Given the description of an element on the screen output the (x, y) to click on. 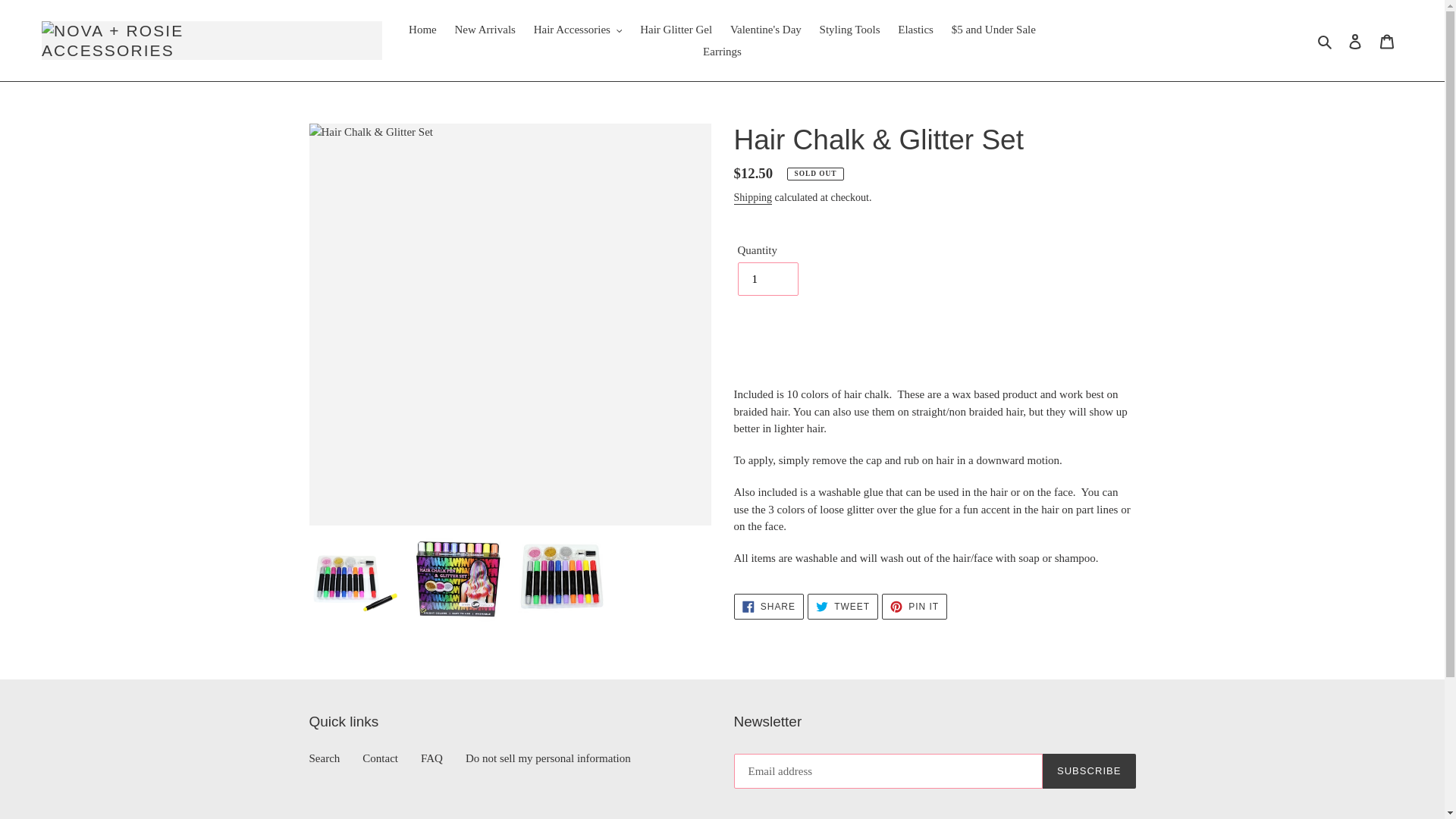
1 (766, 278)
New Arrivals (484, 29)
Log in (1355, 40)
Search (1326, 40)
Earrings (722, 51)
Valentine's Day (765, 29)
Styling Tools (850, 29)
Hair Accessories (577, 29)
Elastics (914, 29)
Hair Glitter Gel (675, 29)
Cart (1387, 40)
Home (422, 29)
